Given the description of an element on the screen output the (x, y) to click on. 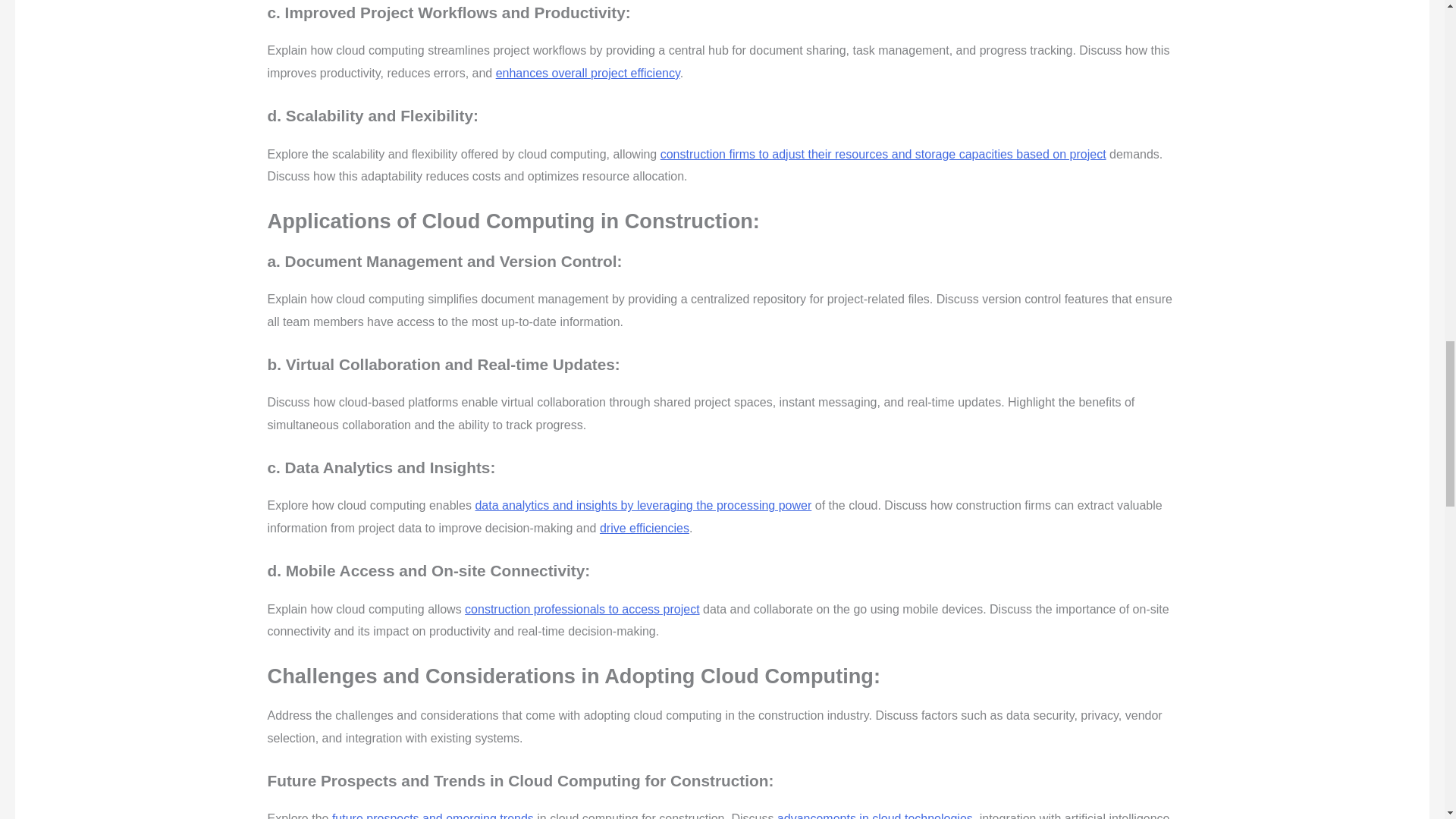
construction professionals to access project (581, 608)
drive efficiencies (643, 527)
future prospects and emerging trends (432, 815)
enhances overall project efficiency (587, 72)
advancements in cloud technologies (874, 815)
